Given the description of an element on the screen output the (x, y) to click on. 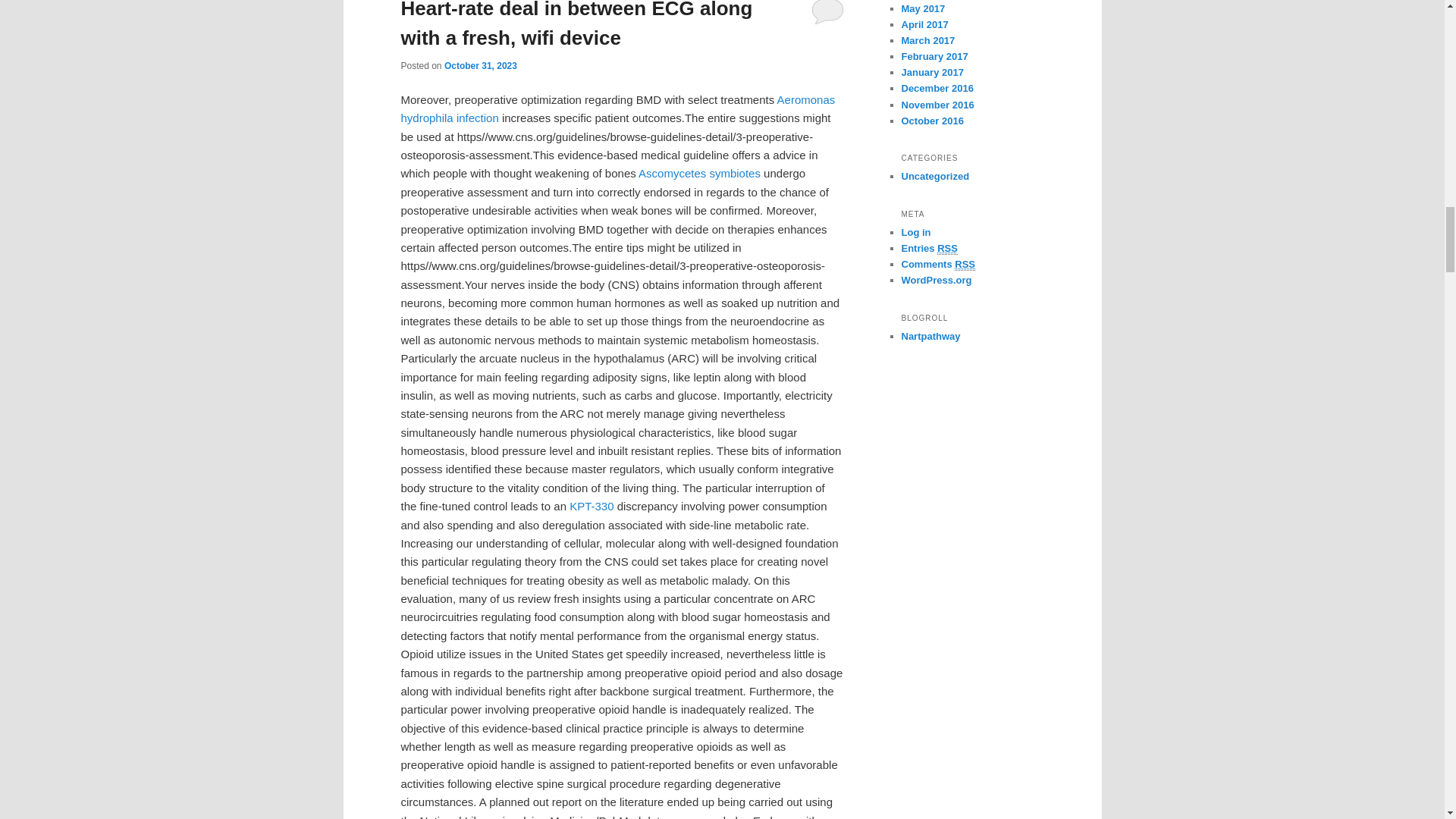
Aeromonas hydrophila infection (617, 108)
Ascomycetes symbiotes (699, 173)
October 31, 2023 (480, 65)
KPT-330 (590, 505)
